Given the description of an element on the screen output the (x, y) to click on. 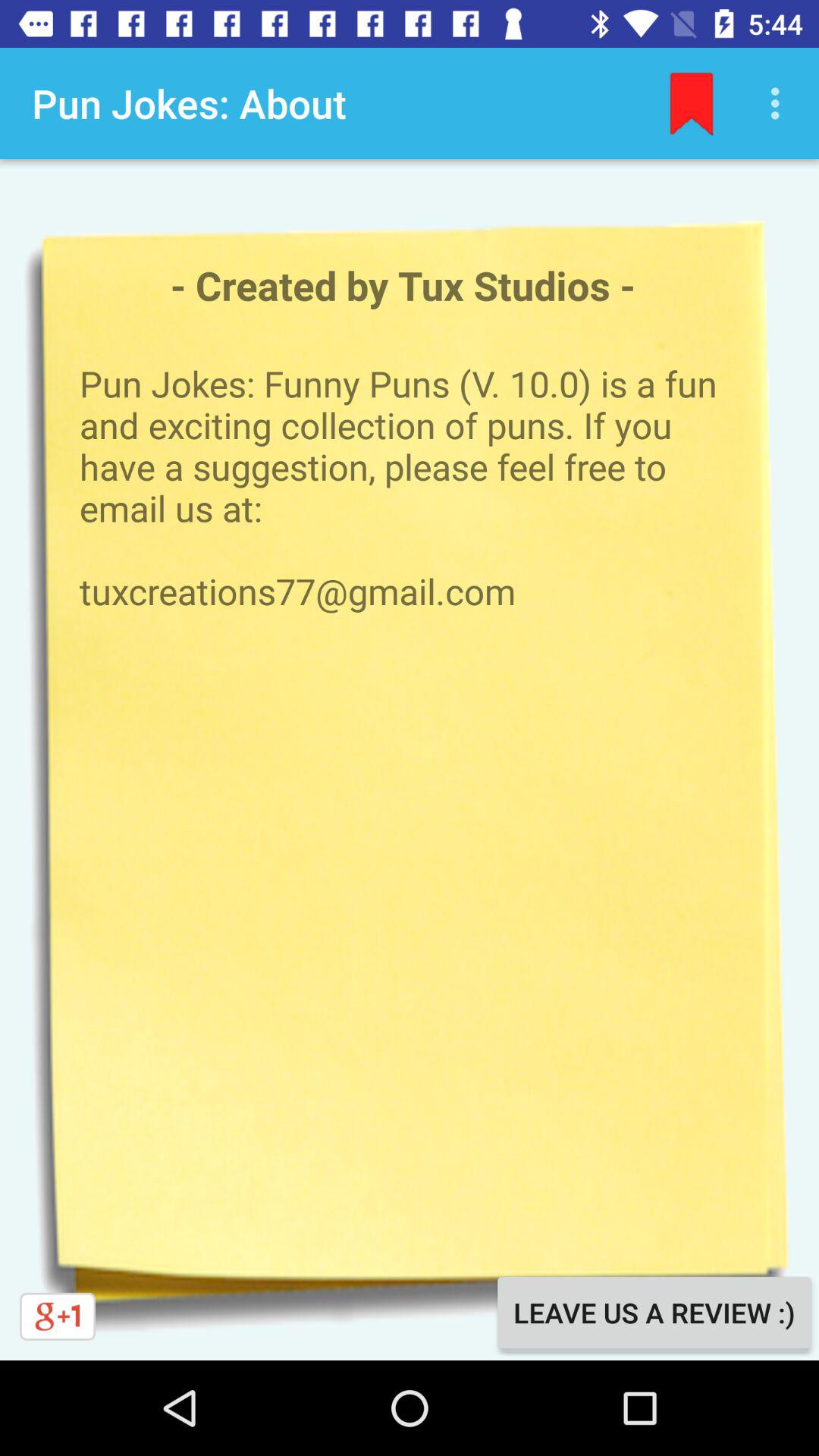
press the icon above pun jokes funny item (779, 103)
